Given the description of an element on the screen output the (x, y) to click on. 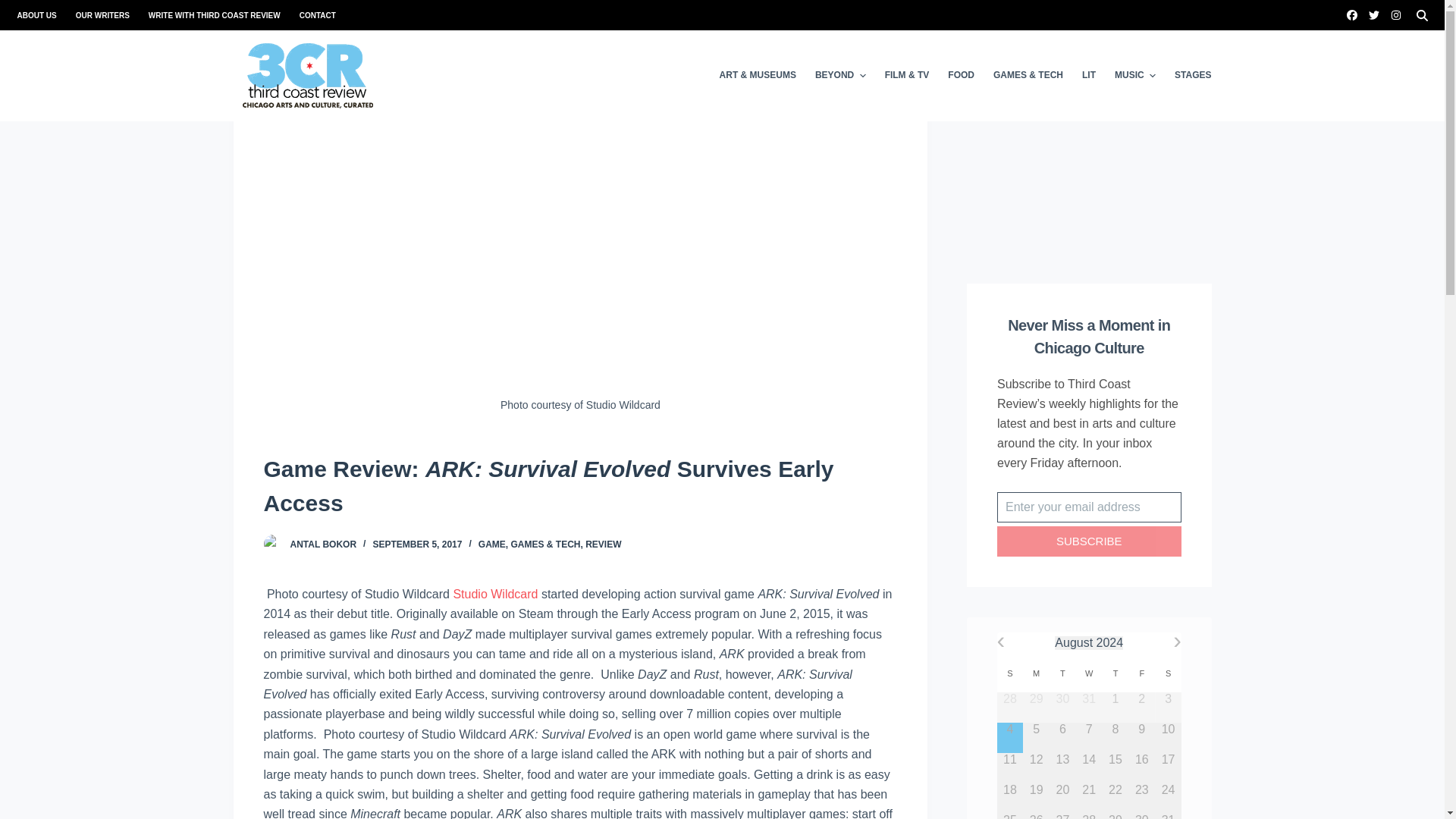
Friday (1141, 673)
LIT (1088, 75)
Monday (1035, 673)
Sunday (1009, 673)
STAGES (1188, 75)
CONTACT (312, 15)
Thursday (1115, 673)
WRITE WITH THIRD COAST REVIEW (213, 15)
BEYOND (840, 75)
Saturday (1168, 673)
Tuesday (1062, 673)
ABOUT US (40, 15)
Wednesday (1088, 673)
OUR WRITERS (101, 15)
FOOD (961, 75)
